Given the description of an element on the screen output the (x, y) to click on. 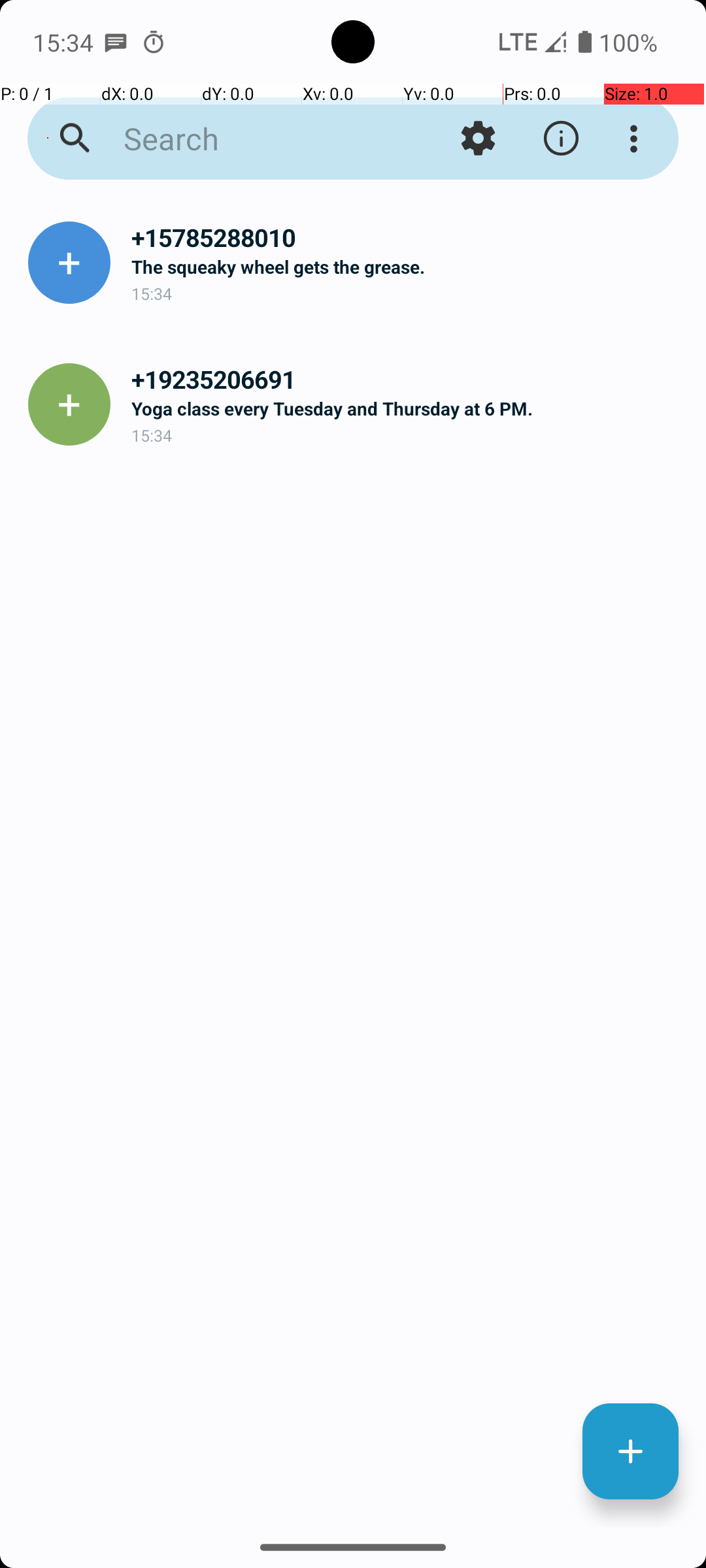
+15785288010 Element type: android.widget.TextView (408, 237)
The squeaky wheel gets the grease. Element type: android.widget.TextView (408, 266)
+19235206691 Element type: android.widget.TextView (408, 378)
Yoga class every Tuesday and Thursday at 6 PM. Element type: android.widget.TextView (408, 407)
